Given the description of an element on the screen output the (x, y) to click on. 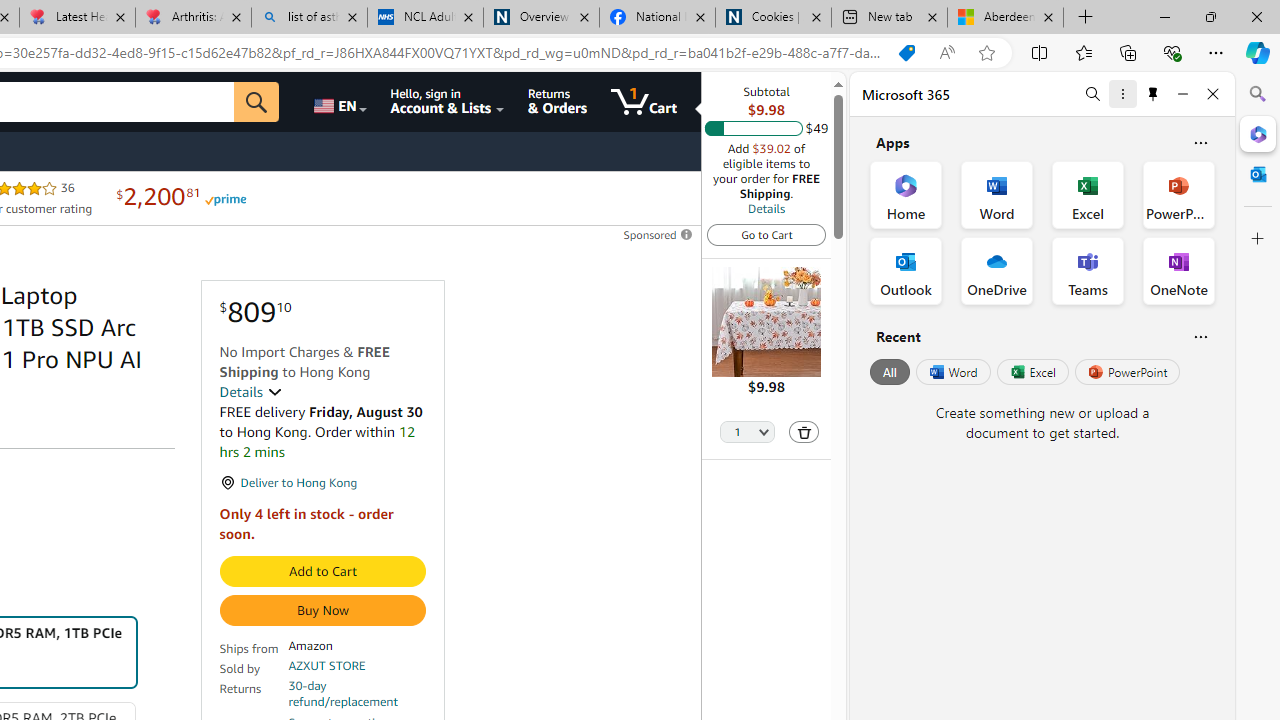
Word Office App (996, 194)
Add to Cart (322, 571)
Is this helpful? (1200, 336)
OneNote Office App (1178, 270)
You have the best price! (906, 53)
